Given the description of an element on the screen output the (x, y) to click on. 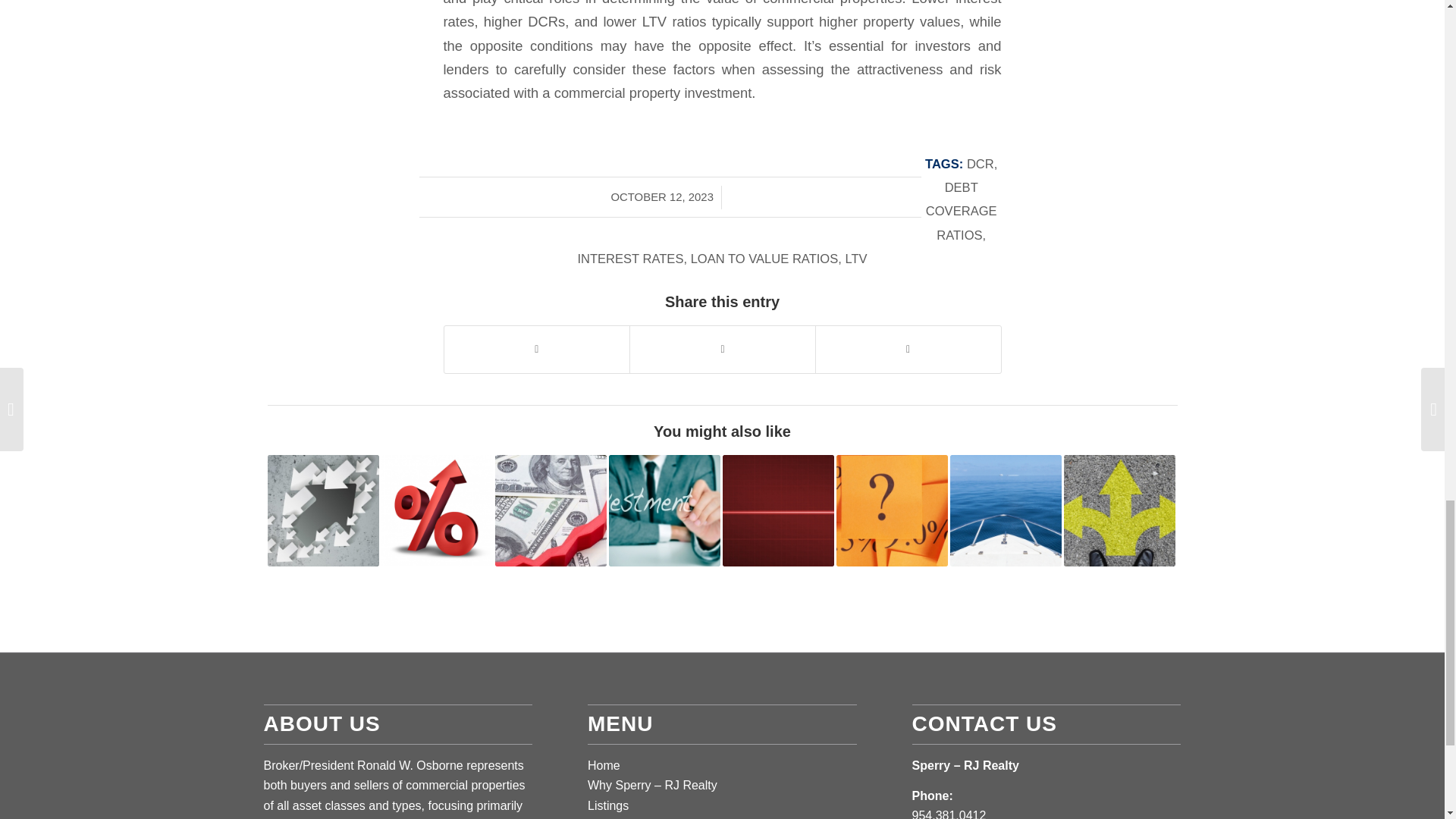
DEBT COVERAGE RATIOS (961, 211)
DCR (980, 164)
Our Sales Were Up In Q4. Let Us Help You. (322, 510)
LOAN TO VALUE RATIOS (764, 258)
LTV (855, 258)
INTEREST RATES (629, 258)
